Given the description of an element on the screen output the (x, y) to click on. 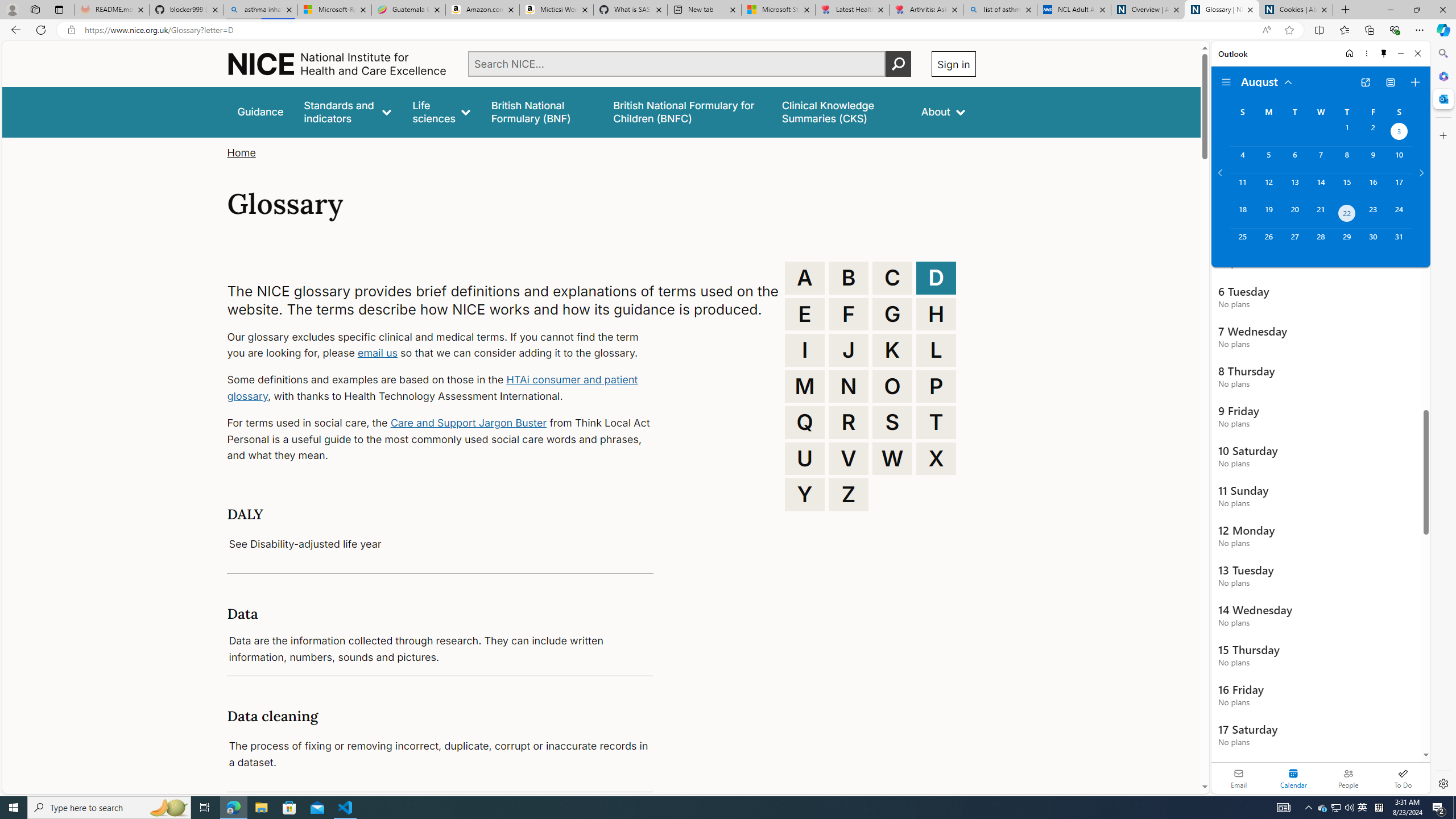
Create event (1414, 82)
British National Formulary for Children (BNFC) (686, 111)
H (935, 313)
Thursday, August 29, 2024.  (1346, 241)
Friday, August 30, 2024.  (1372, 241)
App bar (728, 29)
Z (848, 494)
S (892, 422)
Guidance (260, 111)
Tuesday, August 20, 2024.  (1294, 214)
Close (1417, 53)
